Given the description of an element on the screen output the (x, y) to click on. 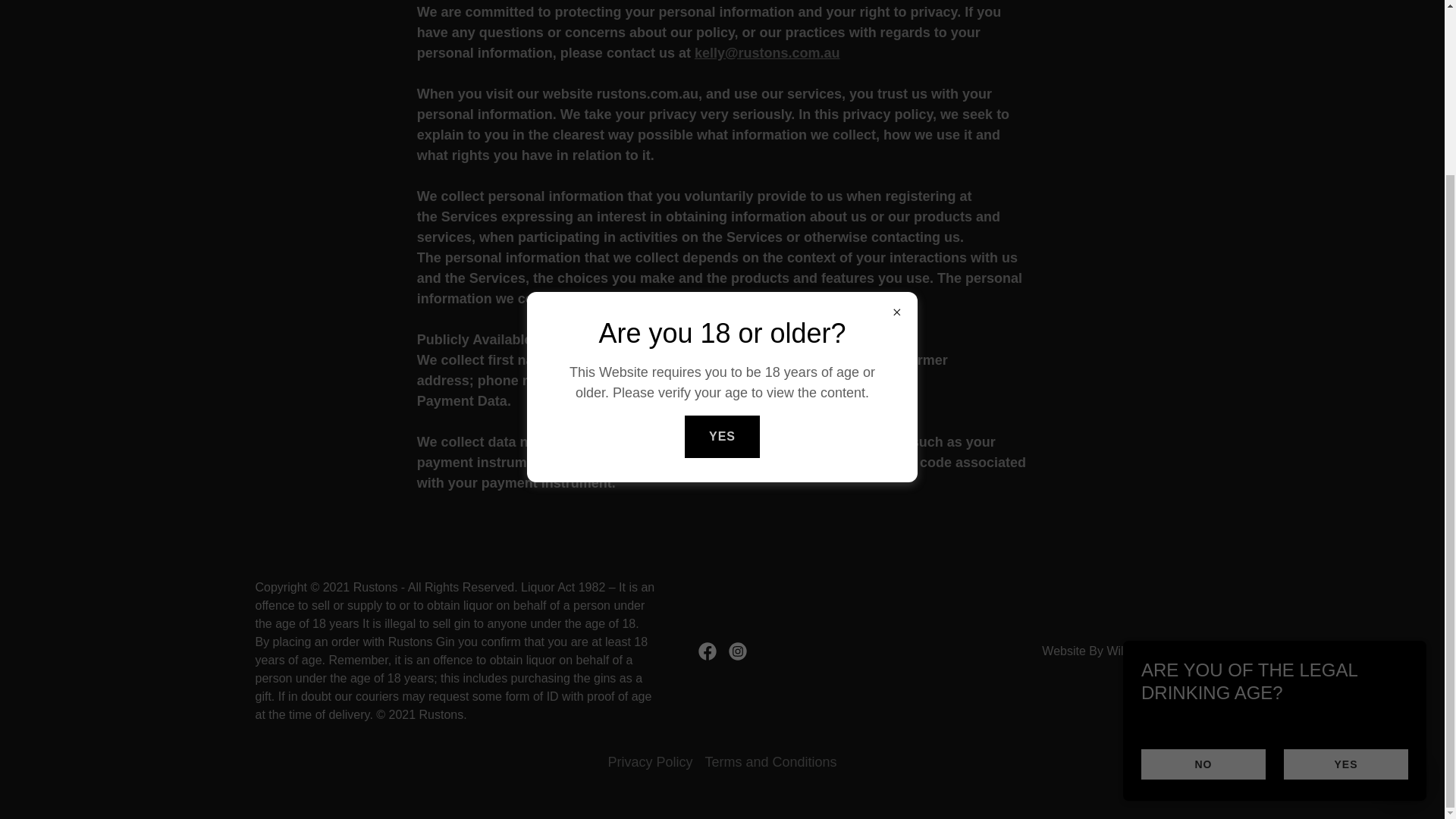
Privacy Policy (649, 762)
Terms and Conditions (770, 762)
NO (1203, 552)
